Given the description of an element on the screen output the (x, y) to click on. 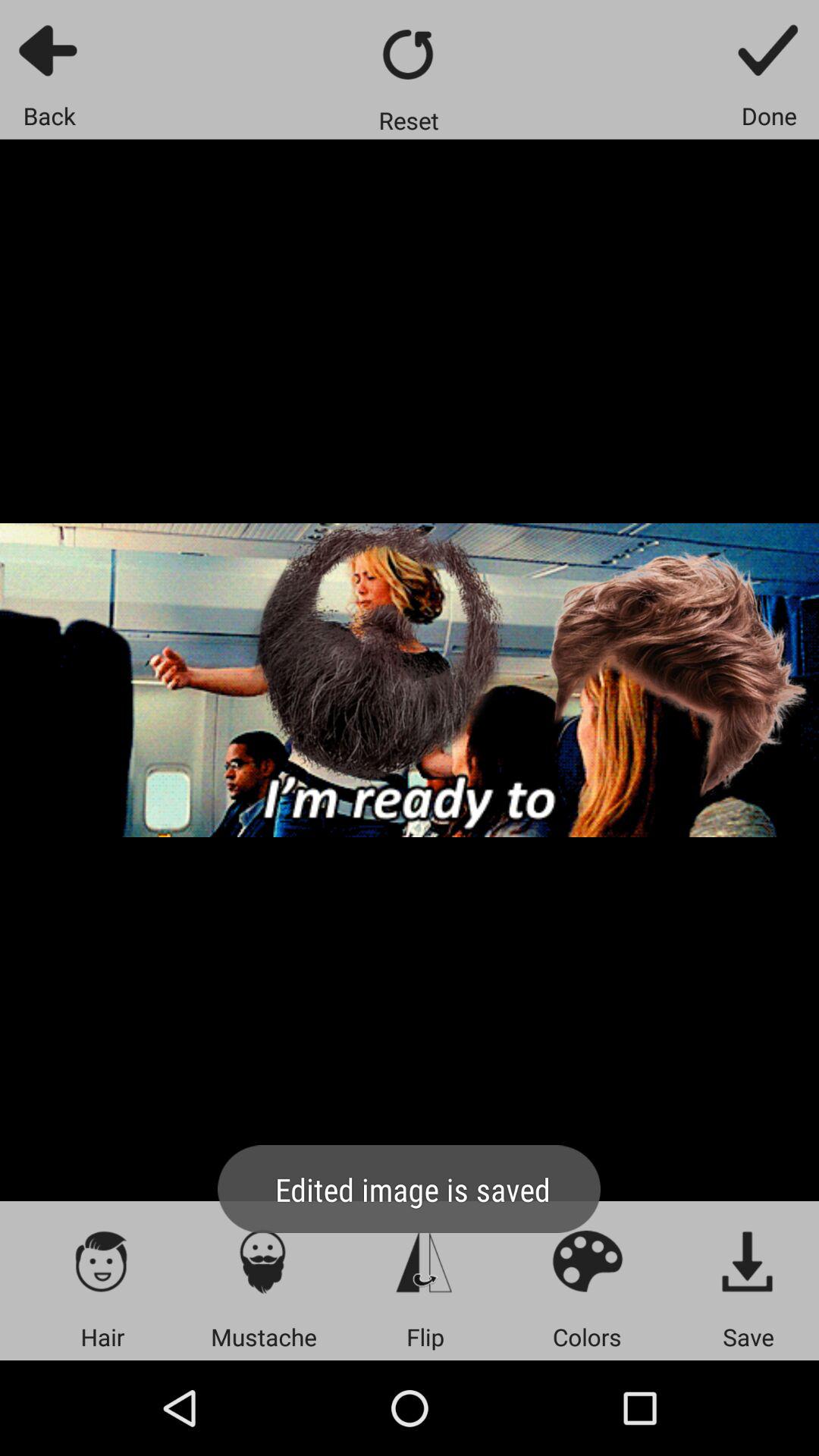
select the download (748, 1260)
